Given the description of an element on the screen output the (x, y) to click on. 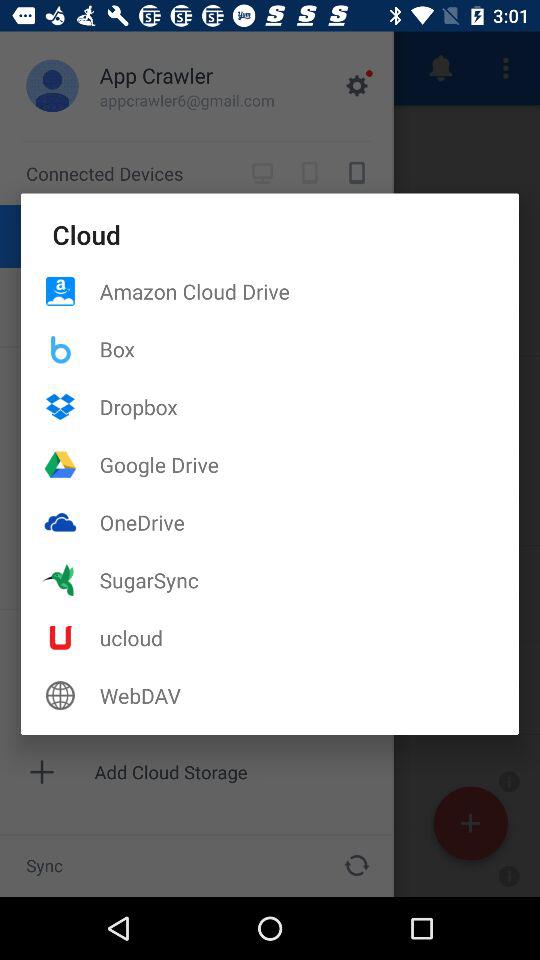
open icon below google drive (309, 522)
